Given the description of an element on the screen output the (x, y) to click on. 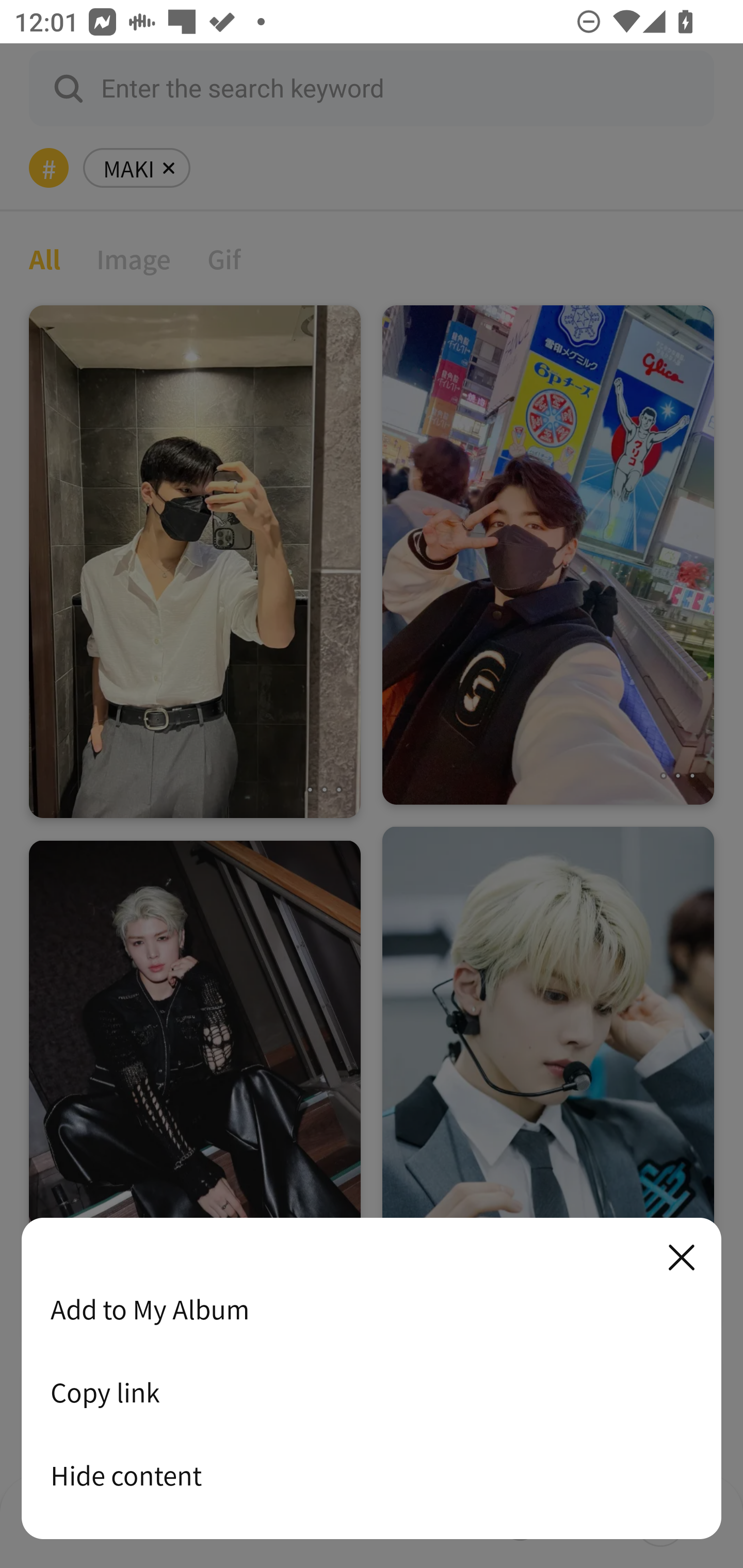
Add to My Album Copy link Hide content (371, 1378)
Add to My Album (371, 1308)
Copy link (371, 1391)
Hide content (371, 1474)
